Given the description of an element on the screen output the (x, y) to click on. 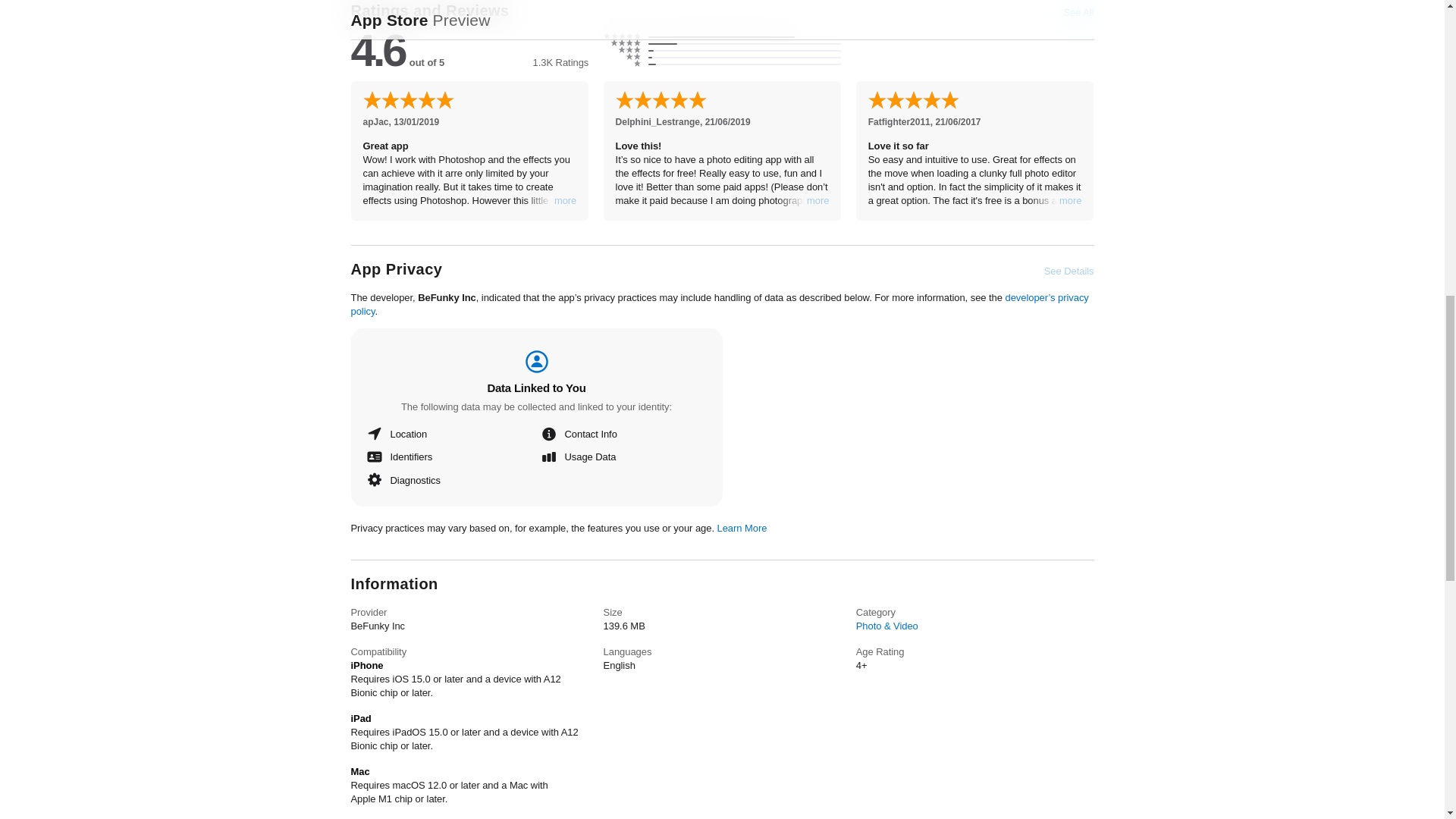
See Details (1068, 271)
more (565, 201)
more (1070, 201)
See All (1077, 12)
Learn More (742, 527)
more (817, 201)
